Given the description of an element on the screen output the (x, y) to click on. 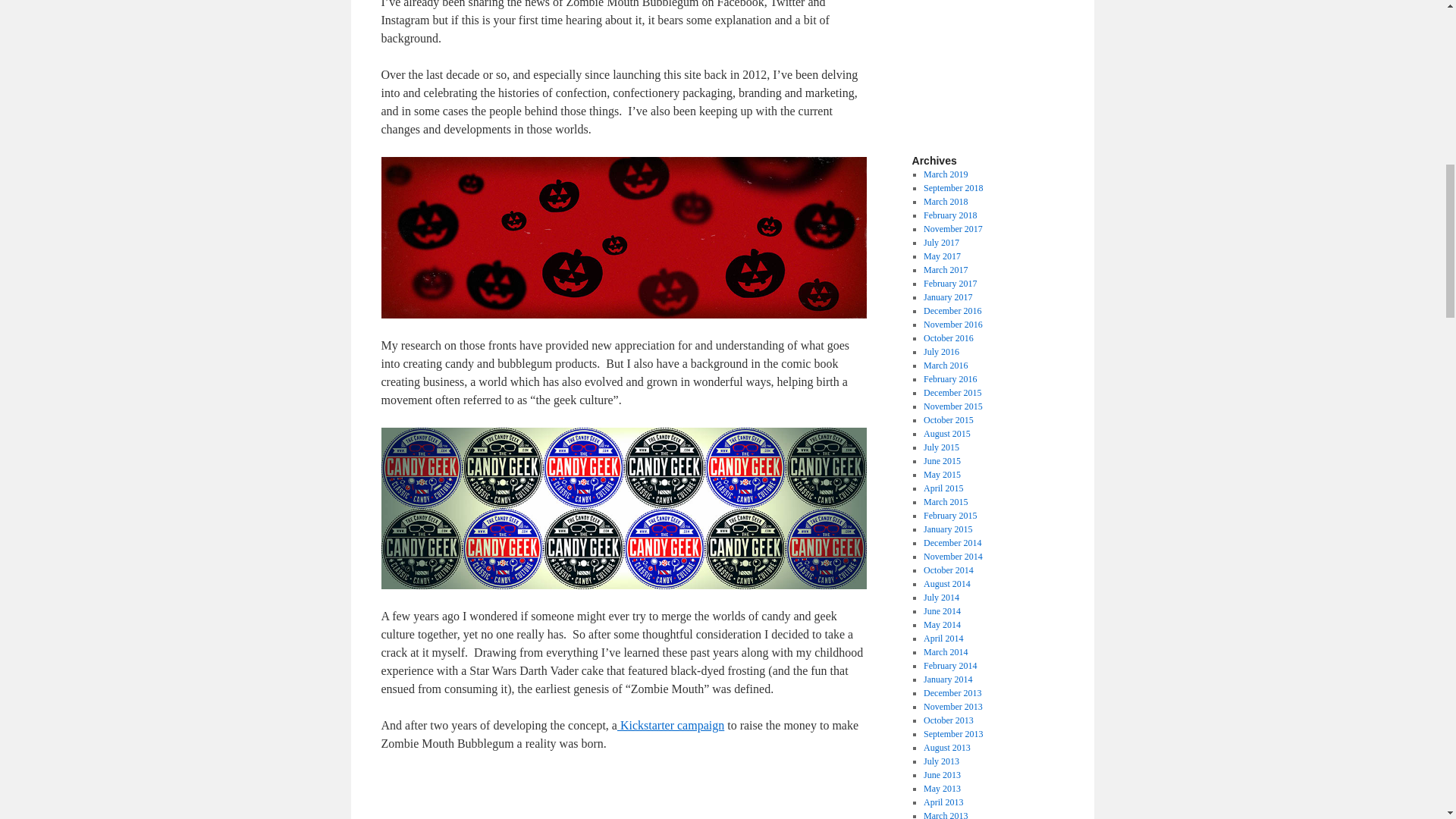
Kickstarter campaign (670, 725)
